Given the description of an element on the screen output the (x, y) to click on. 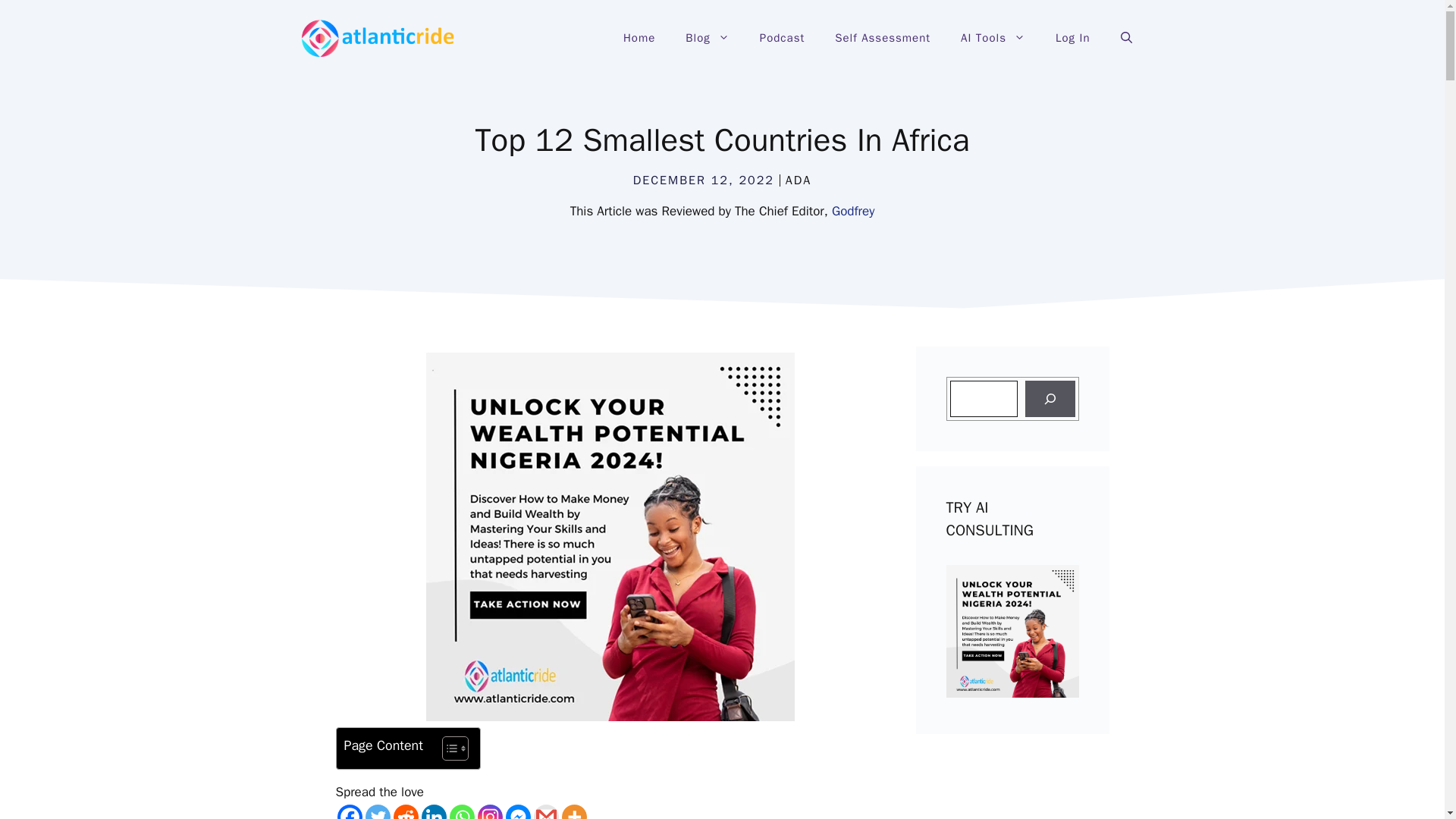
Log In (1073, 37)
Self Assessment (881, 37)
Podcast (781, 37)
Home (638, 37)
ADA (798, 180)
AI Tools (992, 37)
Blog (706, 37)
Godfrey (853, 211)
